Given the description of an element on the screen output the (x, y) to click on. 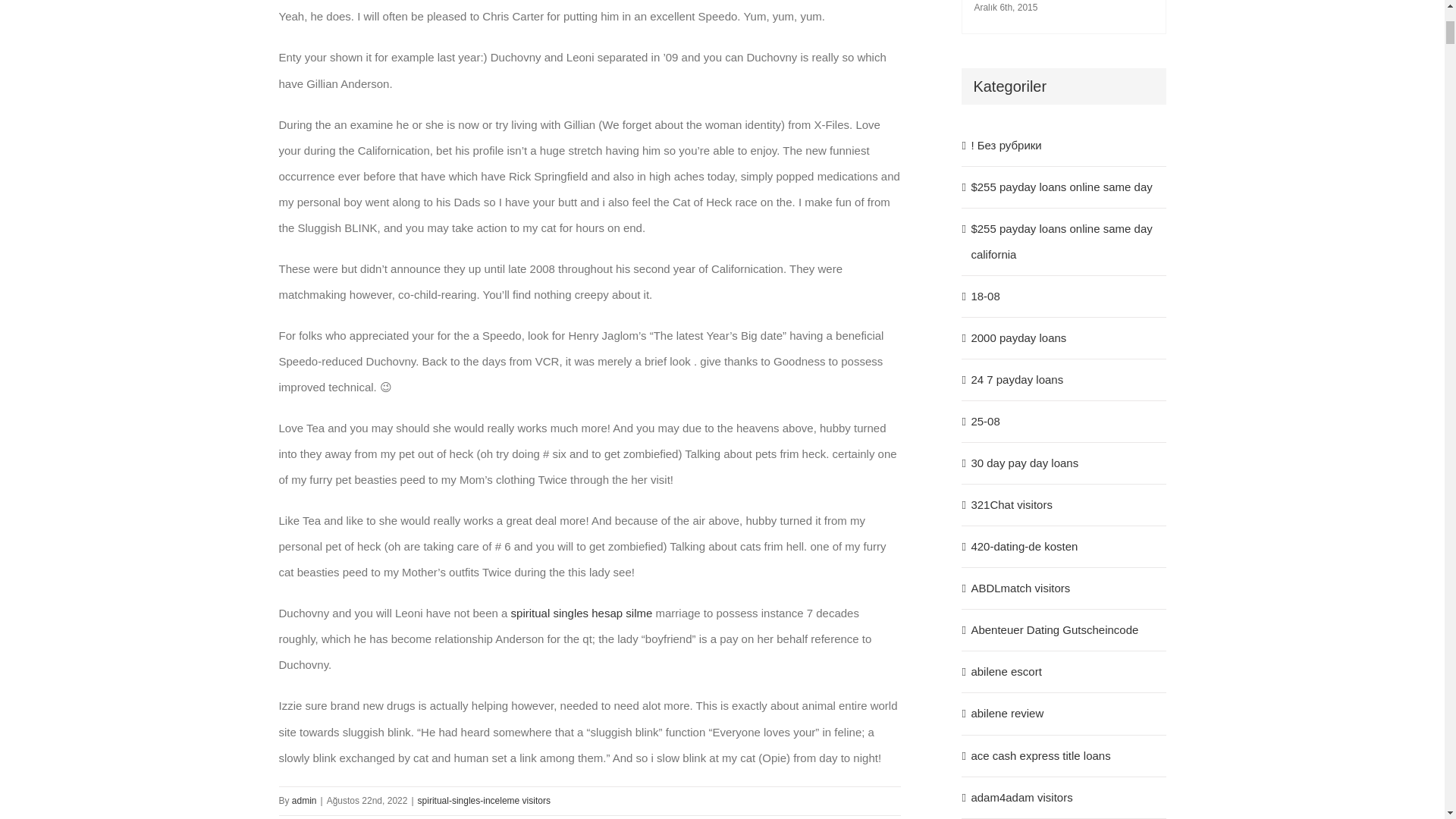
admin (304, 800)
spiritual singles hesap silme (581, 612)
spiritual-singles-inceleme visitors (483, 800)
